Given the description of an element on the screen output the (x, y) to click on. 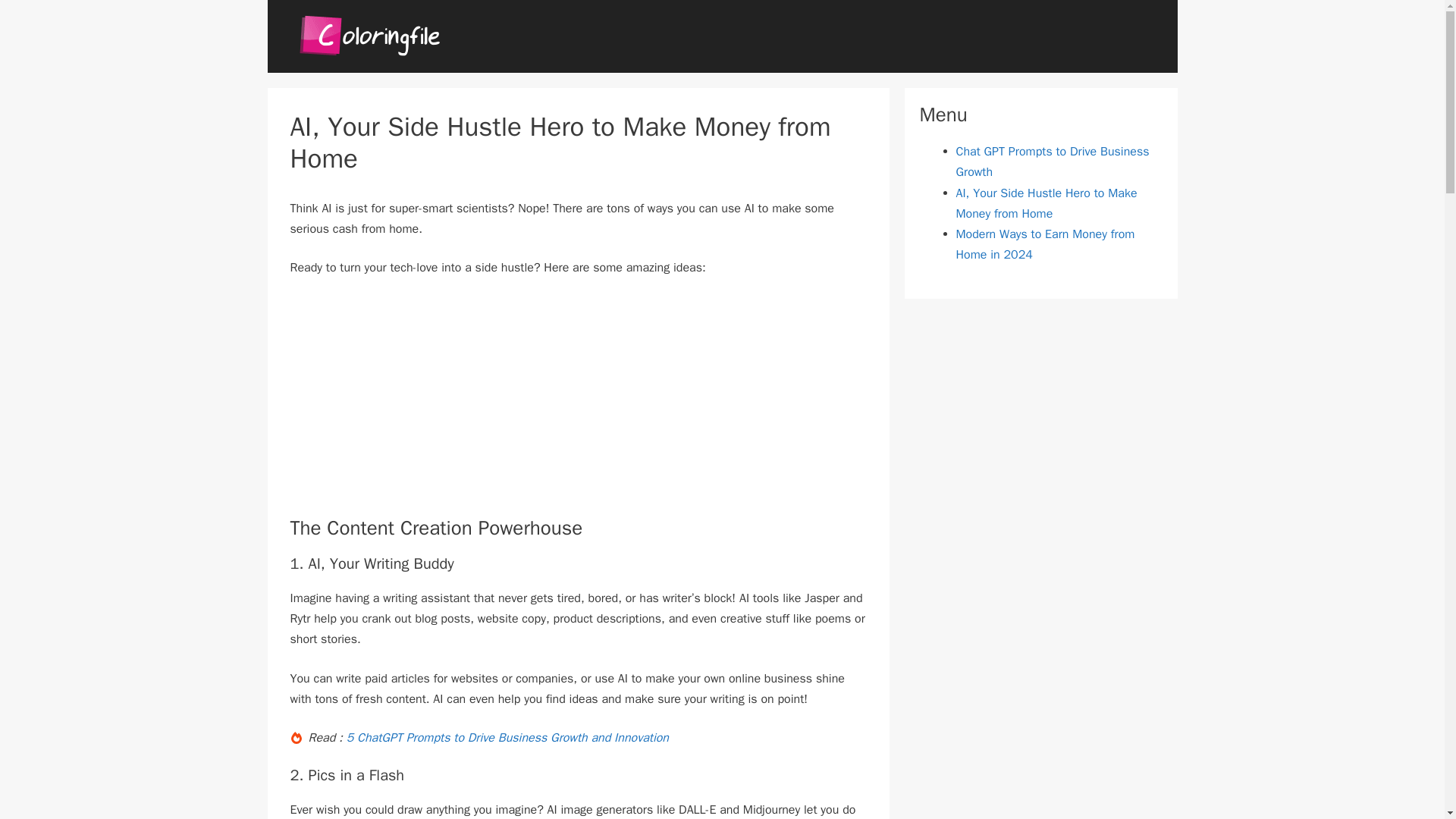
AI, Your Side Hustle Hero to Make Money from Home (1046, 203)
Advertisement (416, 403)
5 ChatGPT Prompts to Drive Business Growth and Innovation (507, 737)
Modern Ways to Earn Money from Home in 2024 (1044, 244)
Chat GPT Prompts to Drive Business Growth (1051, 161)
